Given the description of an element on the screen output the (x, y) to click on. 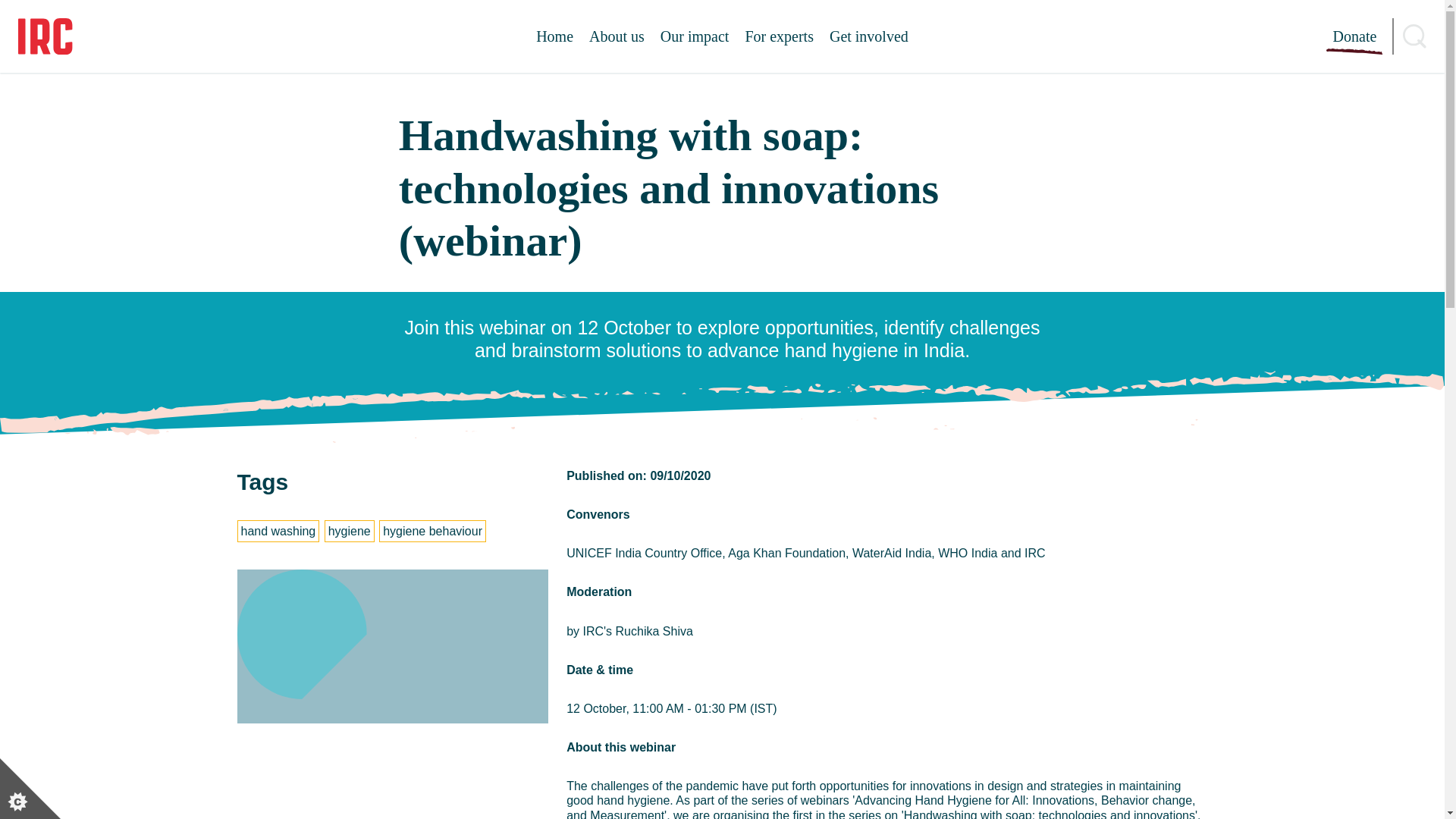
Donate (1354, 36)
hygiene behaviour (431, 531)
Get involved (868, 36)
hygiene (350, 531)
Our impact (695, 36)
hand washing (278, 531)
About us (617, 36)
Home (554, 36)
For experts (778, 36)
